Given the description of an element on the screen output the (x, y) to click on. 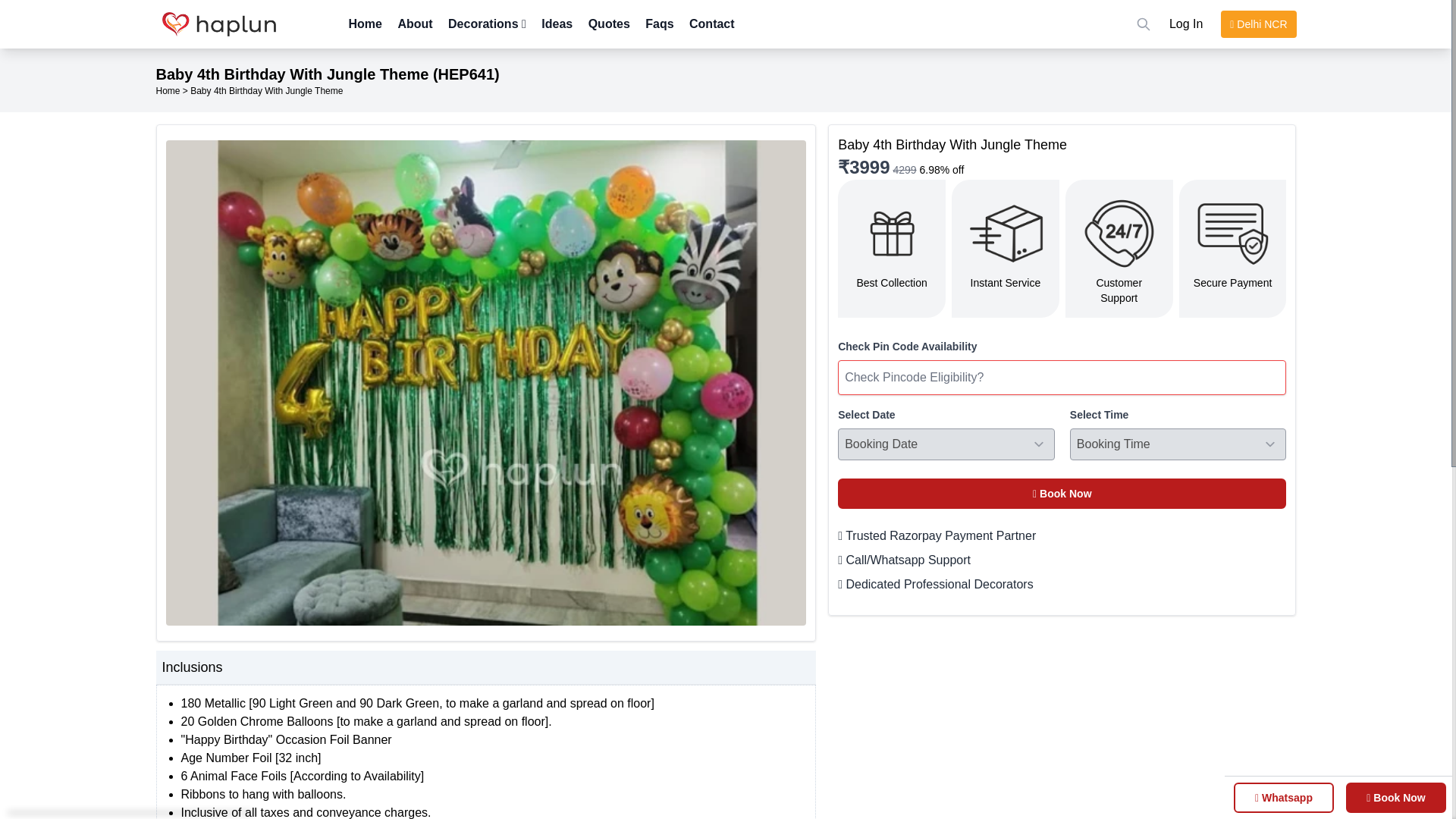
Ideas (556, 23)
Log In (1185, 24)
Home (365, 23)
About (414, 23)
Quotes (609, 23)
Faqs (658, 23)
Contact (711, 23)
Delhi NCR (1258, 23)
Decorations (486, 23)
